Given the description of an element on the screen output the (x, y) to click on. 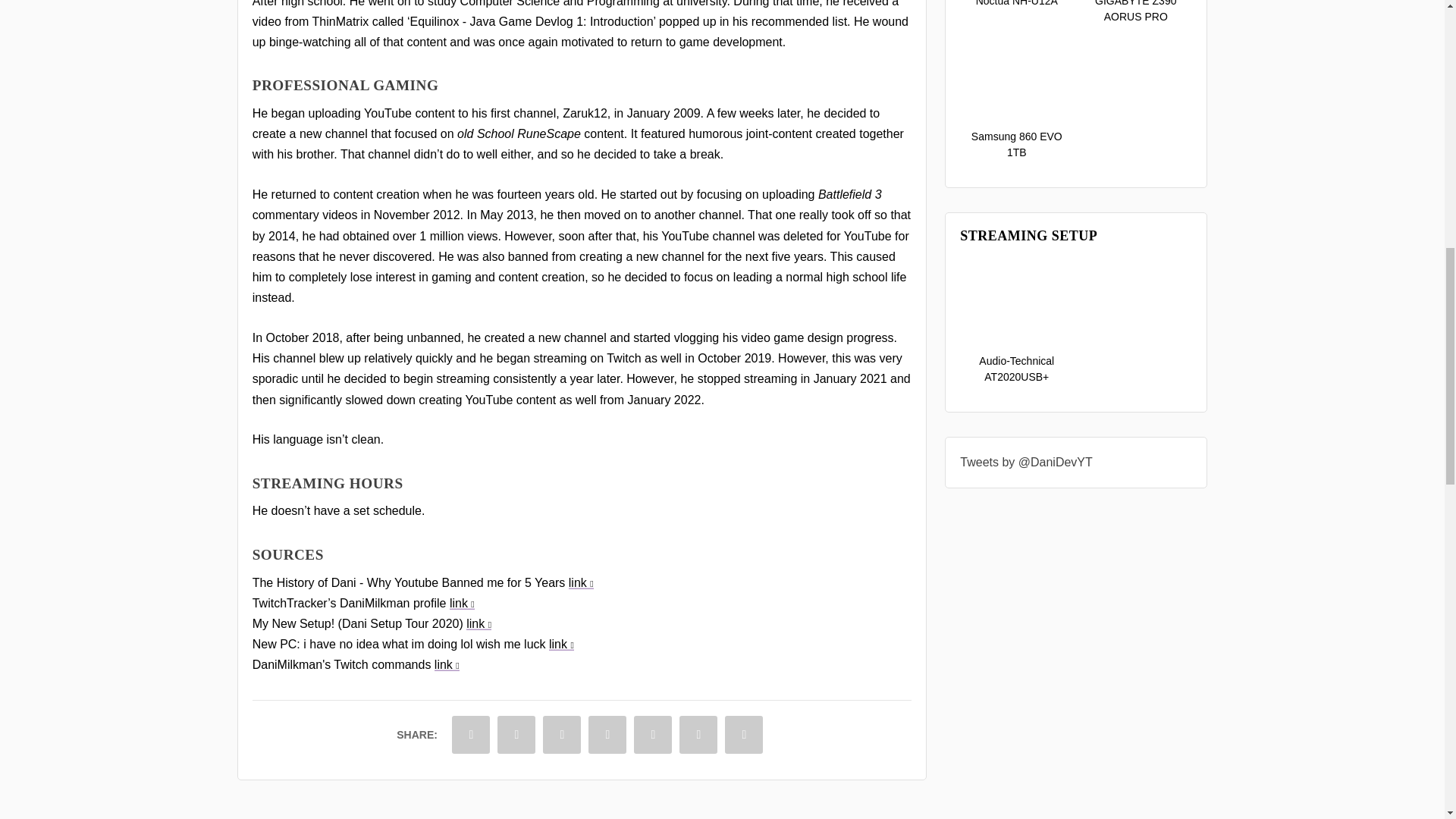
link (560, 644)
Share "DaniMilkman" via Facebook (470, 734)
Share "DaniMilkman" via LinkedIn (652, 734)
Share "DaniMilkman" via Email (743, 734)
Share "DaniMilkman" via Pinterest (607, 734)
link (446, 664)
link (478, 623)
Share "DaniMilkman" via Tumblr (561, 734)
link (461, 603)
link (581, 582)
Share "DaniMilkman" via Twitter (515, 734)
Share "DaniMilkman" via Buffer (697, 734)
